Given the description of an element on the screen output the (x, y) to click on. 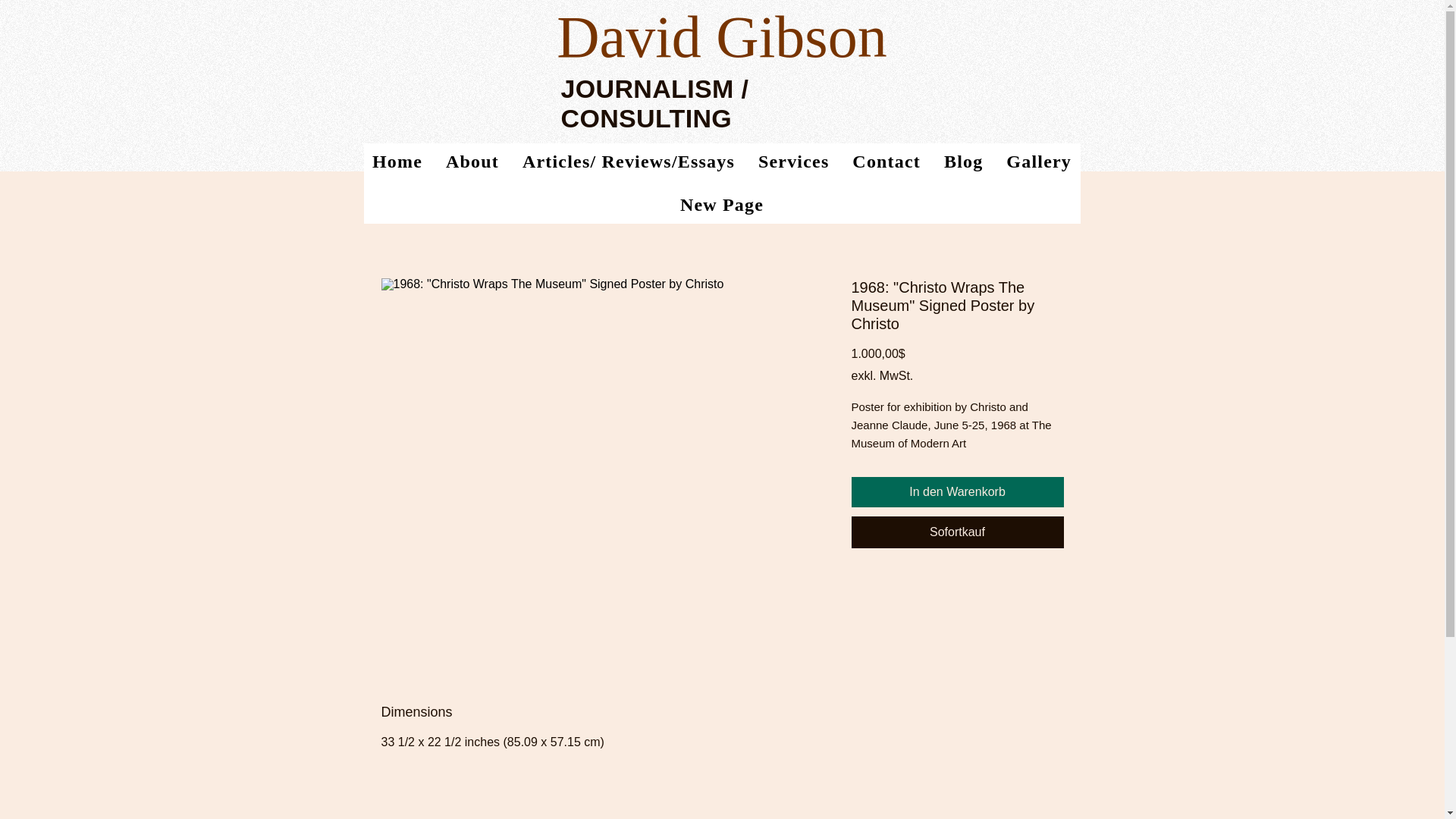
Blog (963, 161)
Sofortkauf (956, 531)
Contact (887, 161)
David Gibson (721, 36)
Services (793, 161)
About (473, 161)
Home (397, 161)
In den Warenkorb (956, 491)
New Page (722, 204)
